Given the description of an element on the screen output the (x, y) to click on. 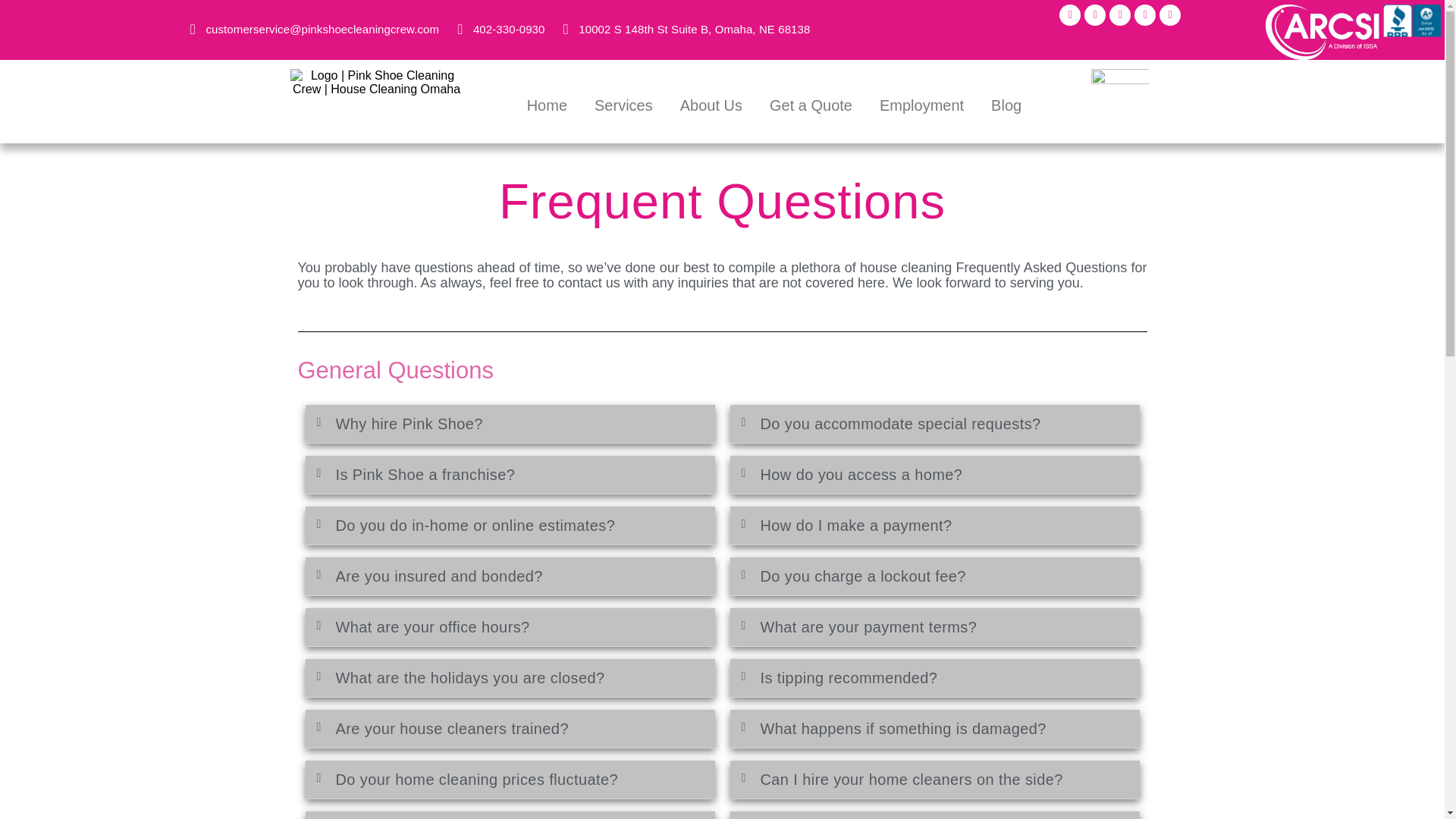
Get a Quote (810, 104)
About Us (710, 104)
Blog (1005, 104)
402-330-0930 (497, 29)
Services (623, 104)
Home (546, 104)
10002 S 148th St Suite B, Omaha, NE 68138 (683, 29)
Employment (921, 104)
